Given the description of an element on the screen output the (x, y) to click on. 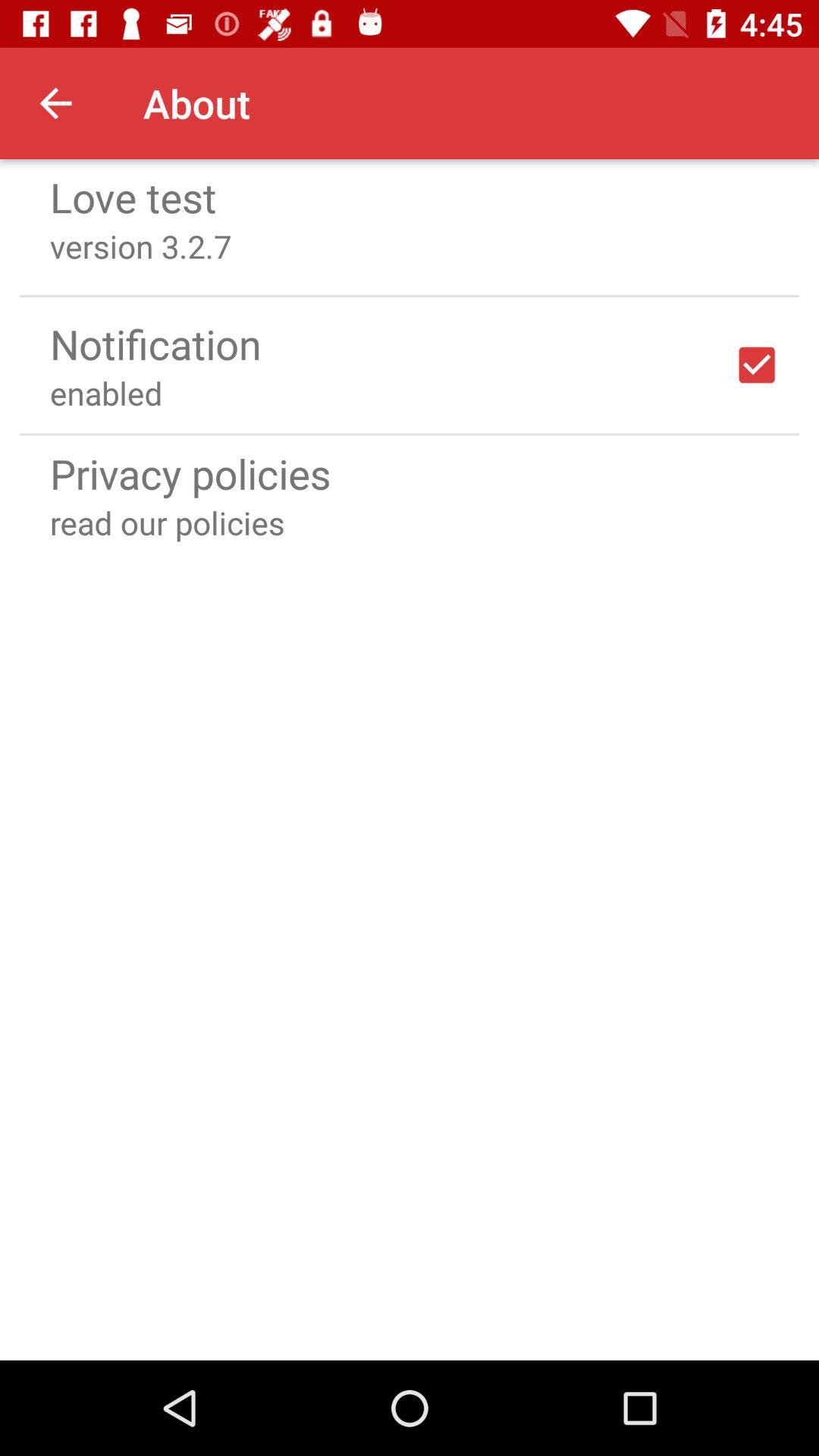
open icon above the notification icon (409, 296)
